Given the description of an element on the screen output the (x, y) to click on. 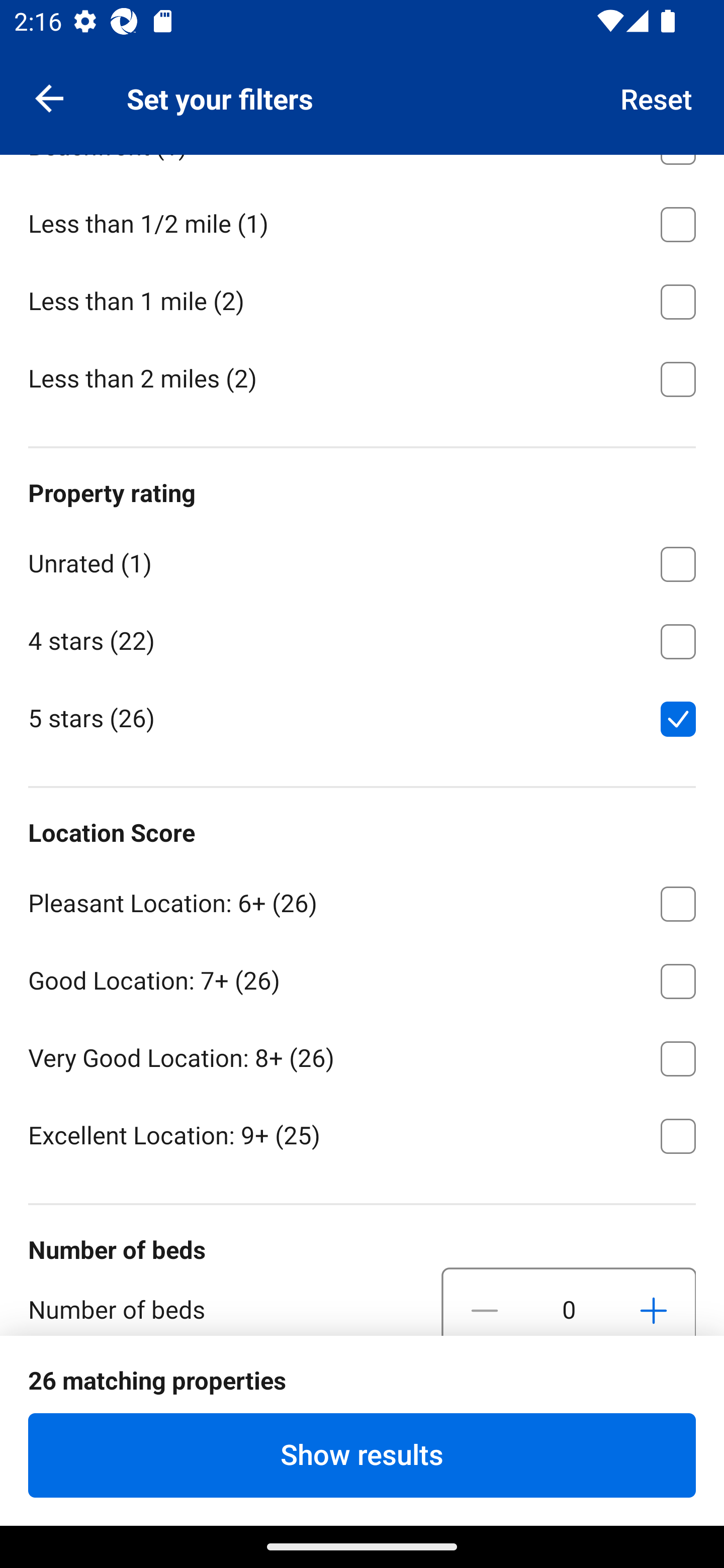
Navigate up (49, 97)
Reset (656, 97)
Less than 1/2 mile ⁦(1) (361, 220)
Less than 1 mile ⁦(2) (361, 298)
Less than 2 miles ⁦(2) (361, 377)
Unrated ⁦(1) (361, 560)
4 stars ⁦(22) (361, 637)
5 stars ⁦(26) (361, 717)
Pleasant Location: 6+ ⁦(26) (361, 900)
Good Location: 7+ ⁦(26) (361, 977)
Very Good Location: 8+ ⁦(26) (361, 1055)
Excellent Location: 9+ ⁦(25) (361, 1134)
Decrease (484, 1301)
Increase (653, 1301)
Show results (361, 1454)
